Given the description of an element on the screen output the (x, y) to click on. 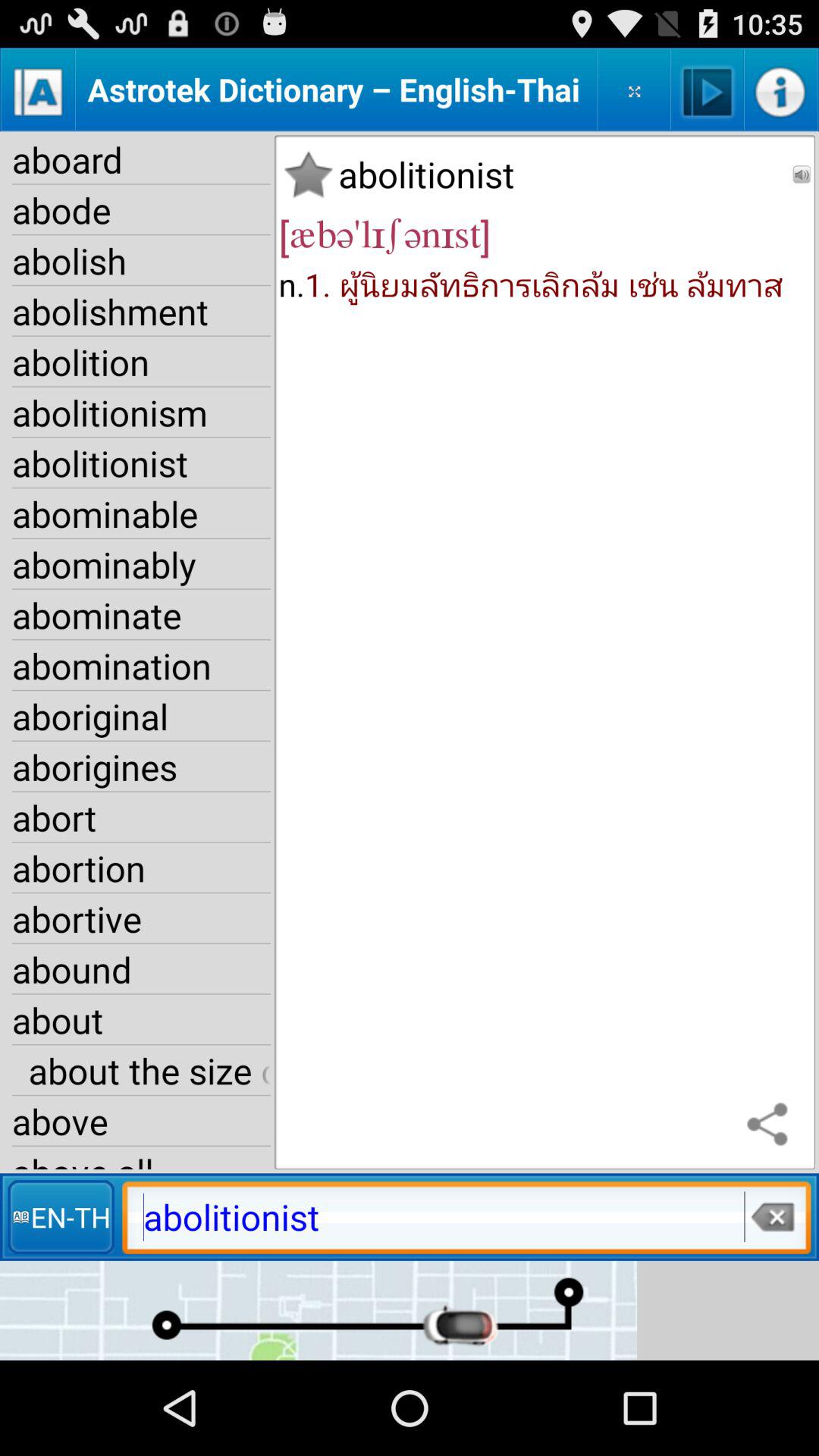
select alphabetical order (37, 89)
